Given the description of an element on the screen output the (x, y) to click on. 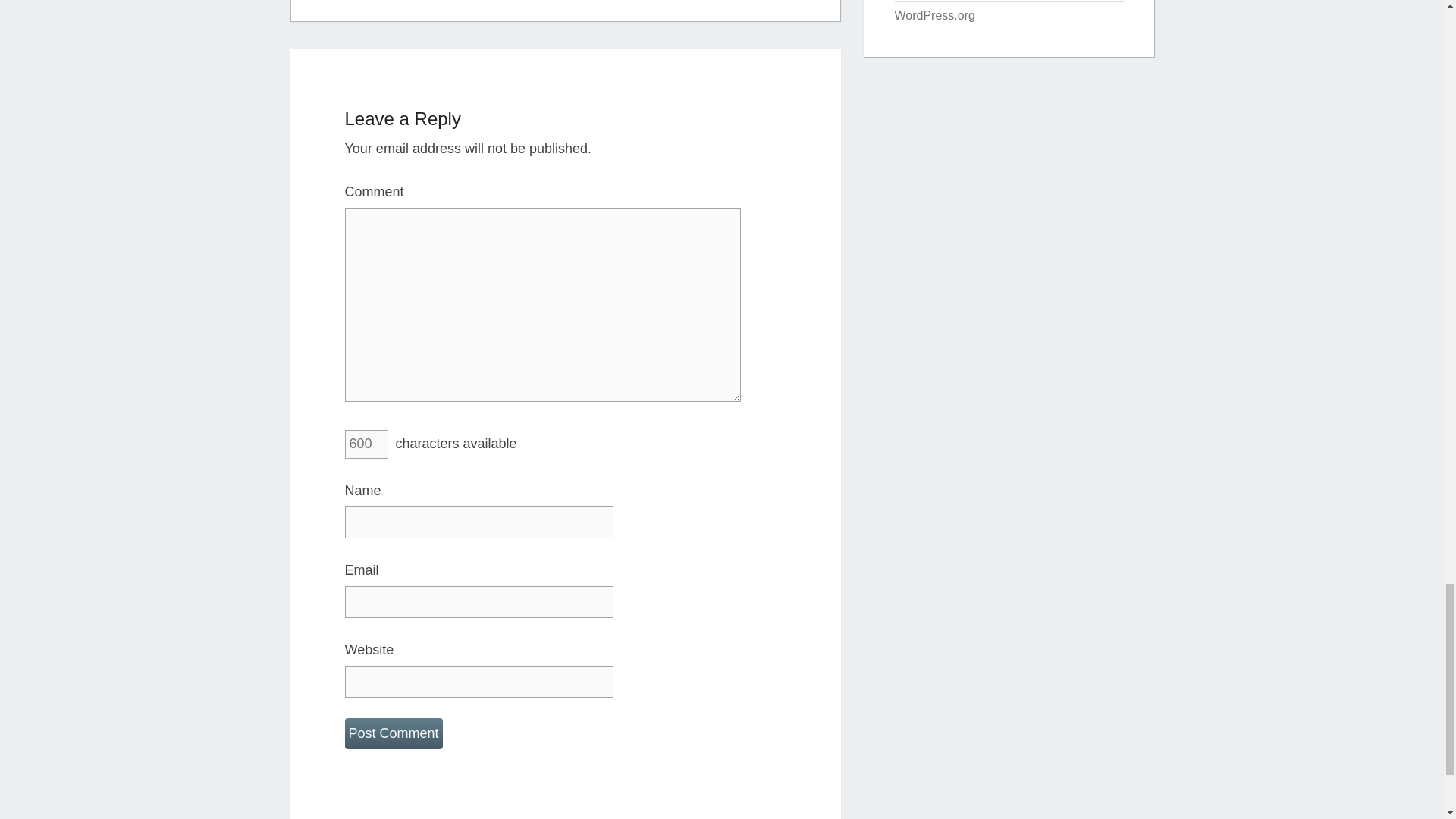
Post Comment (392, 733)
600 (365, 443)
Post Comment (392, 733)
